Given the description of an element on the screen output the (x, y) to click on. 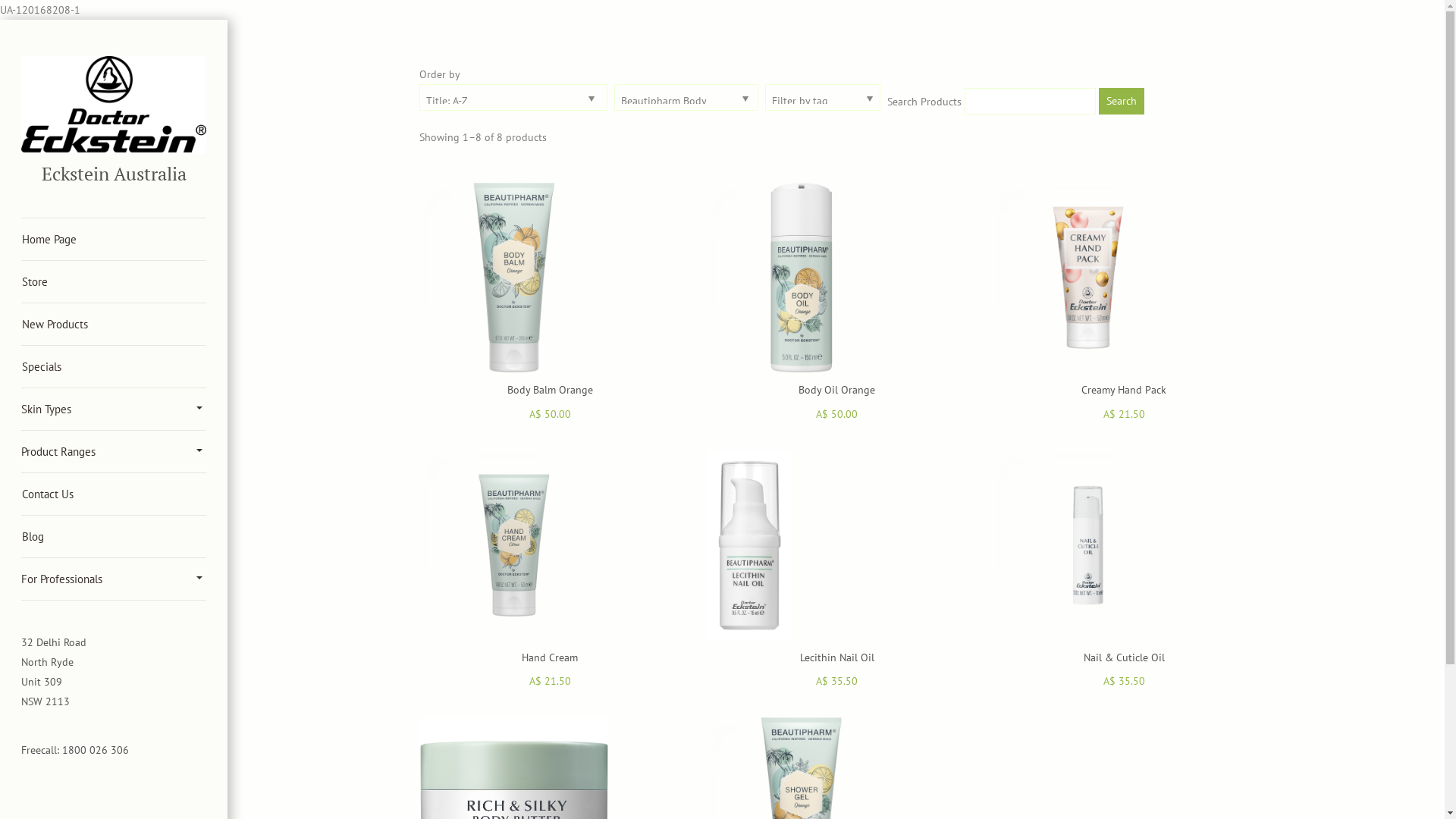
Body Oil Orange
A$ 50.00 Element type: text (836, 302)
New Products Element type: text (113, 324)
Home Page Element type: text (113, 239)
Hand Cream
A$ 21.50 Element type: text (549, 570)
Body Balm Orange
A$ 50.00 Element type: text (549, 302)
Creamy Hand Pack
A$ 21.50 Element type: text (1123, 302)
Store Element type: text (113, 281)
Eckstein Australia Element type: text (112, 173)
Specials Element type: text (113, 366)
Contact Us Element type: text (113, 493)
Blog Element type: text (113, 536)
Lecithin Nail Oil
A$ 35.50 Element type: text (836, 570)
Search Element type: text (1121, 100)
Nail & Cuticle Oil
A$ 35.50 Element type: text (1123, 570)
Freecall: 1800 026 306 Element type: text (74, 749)
